Given the description of an element on the screen output the (x, y) to click on. 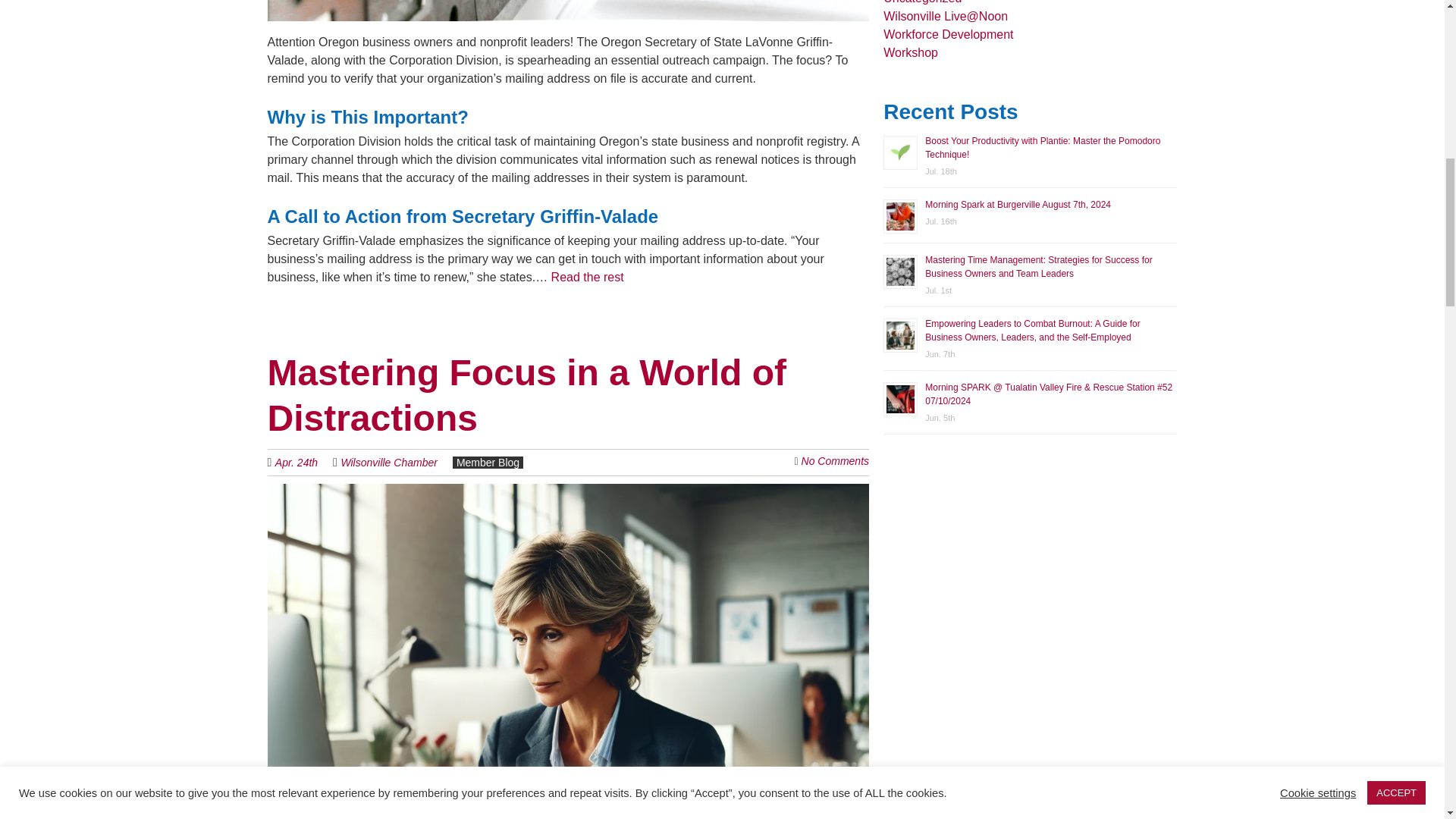
Comment on Mastering Focus in a World of Distractions (835, 460)
Permalink to Mastering Focus in a World of Distractions (567, 492)
Permalink to Mastering Focus in a World of Distractions (526, 395)
View all posts by Wilsonville Chamber (388, 462)
